Given the description of an element on the screen output the (x, y) to click on. 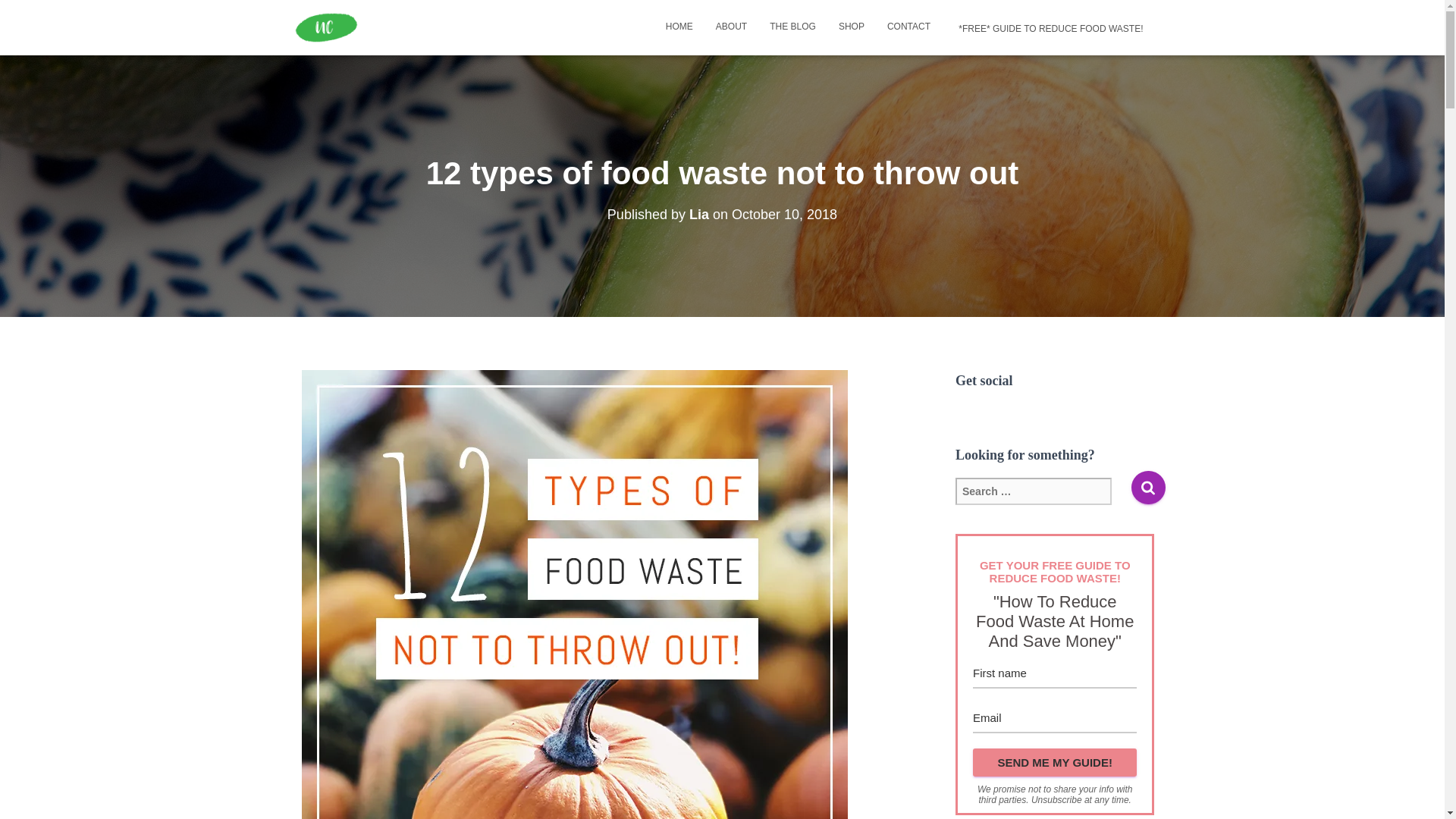
Shop (851, 26)
Take Action Now! (97, 13)
Lia (698, 214)
FREE guide to reduce food waste! (1048, 27)
Instagram (964, 412)
Search (1148, 486)
The blog (792, 26)
THE BLOG (792, 26)
Home (678, 26)
Send me my guide! (1054, 762)
